Given the description of an element on the screen output the (x, y) to click on. 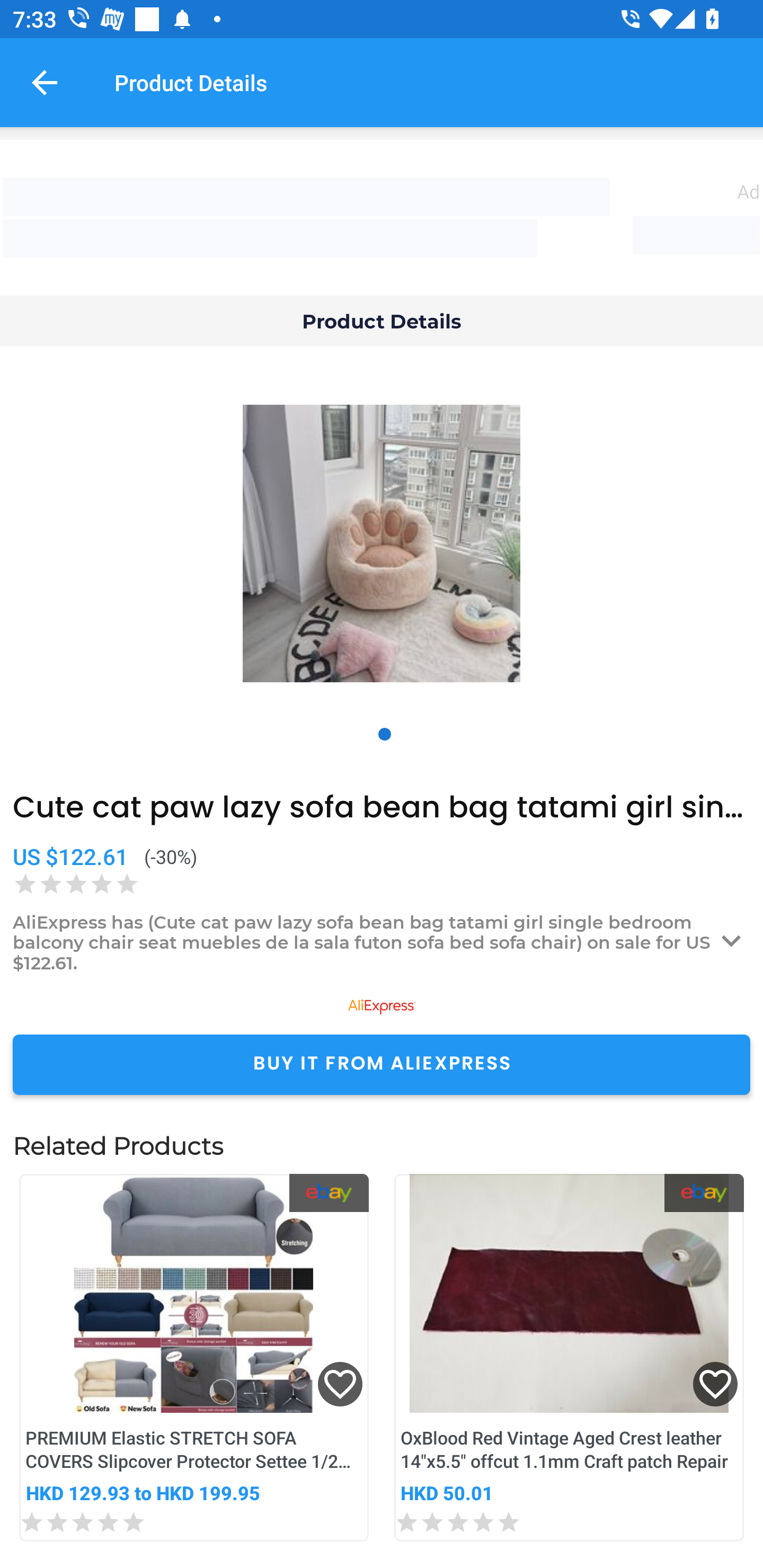
Navigate up (44, 82)
BUY IT FROM ALIEXPRESS (381, 1064)
